Given the description of an element on the screen output the (x, y) to click on. 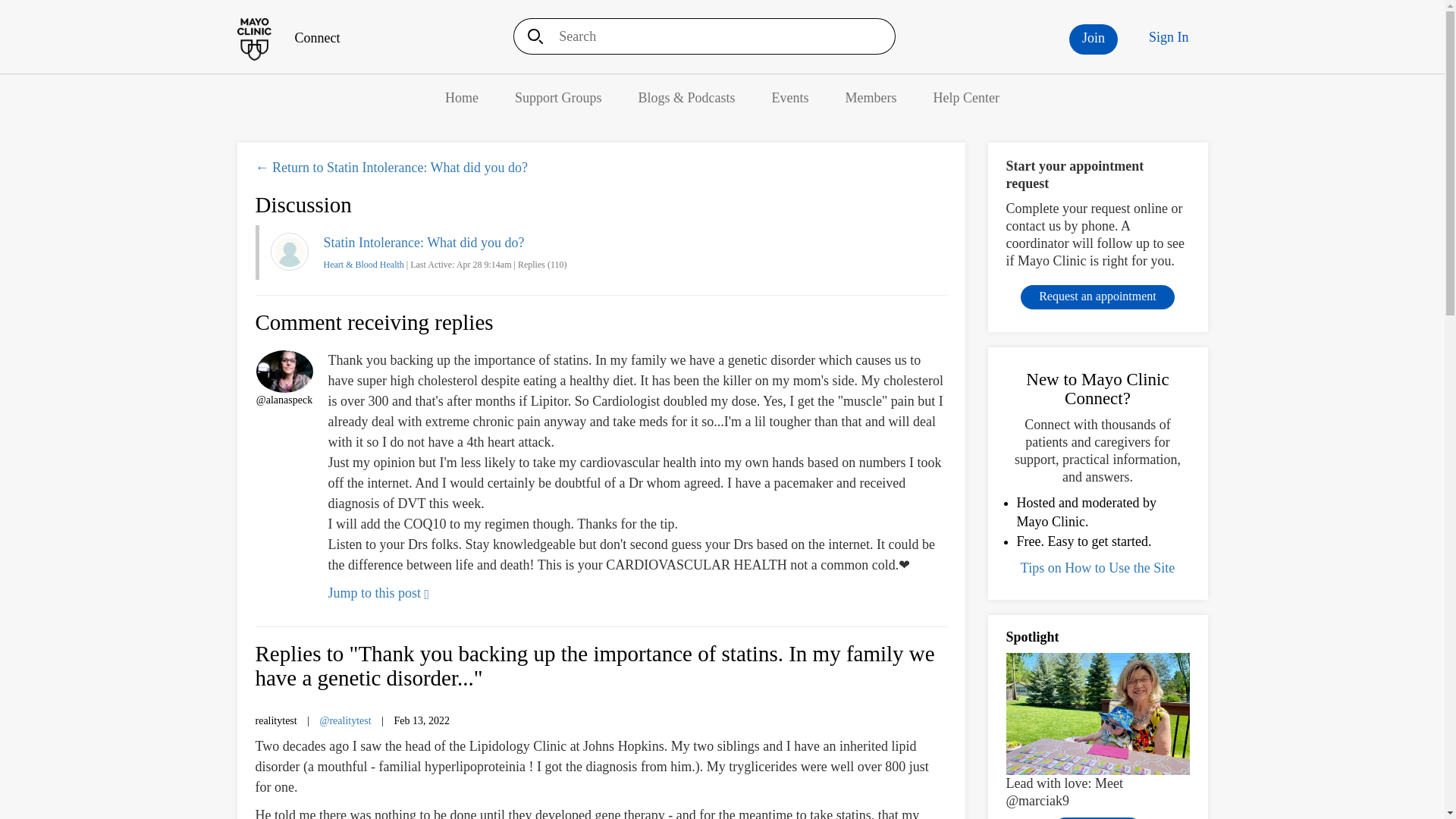
Join (1093, 39)
Members (870, 97)
Read more (1097, 818)
Tips on How to Use the Site (1097, 567)
Home (287, 37)
Support Groups (558, 97)
Request an appointment (1097, 297)
Home (462, 97)
Sign In (1169, 37)
Members (870, 97)
Home (462, 97)
Connect (287, 37)
Events (790, 97)
Statin Intolerance: What did you do? (423, 242)
Search (530, 36)
